Given the description of an element on the screen output the (x, y) to click on. 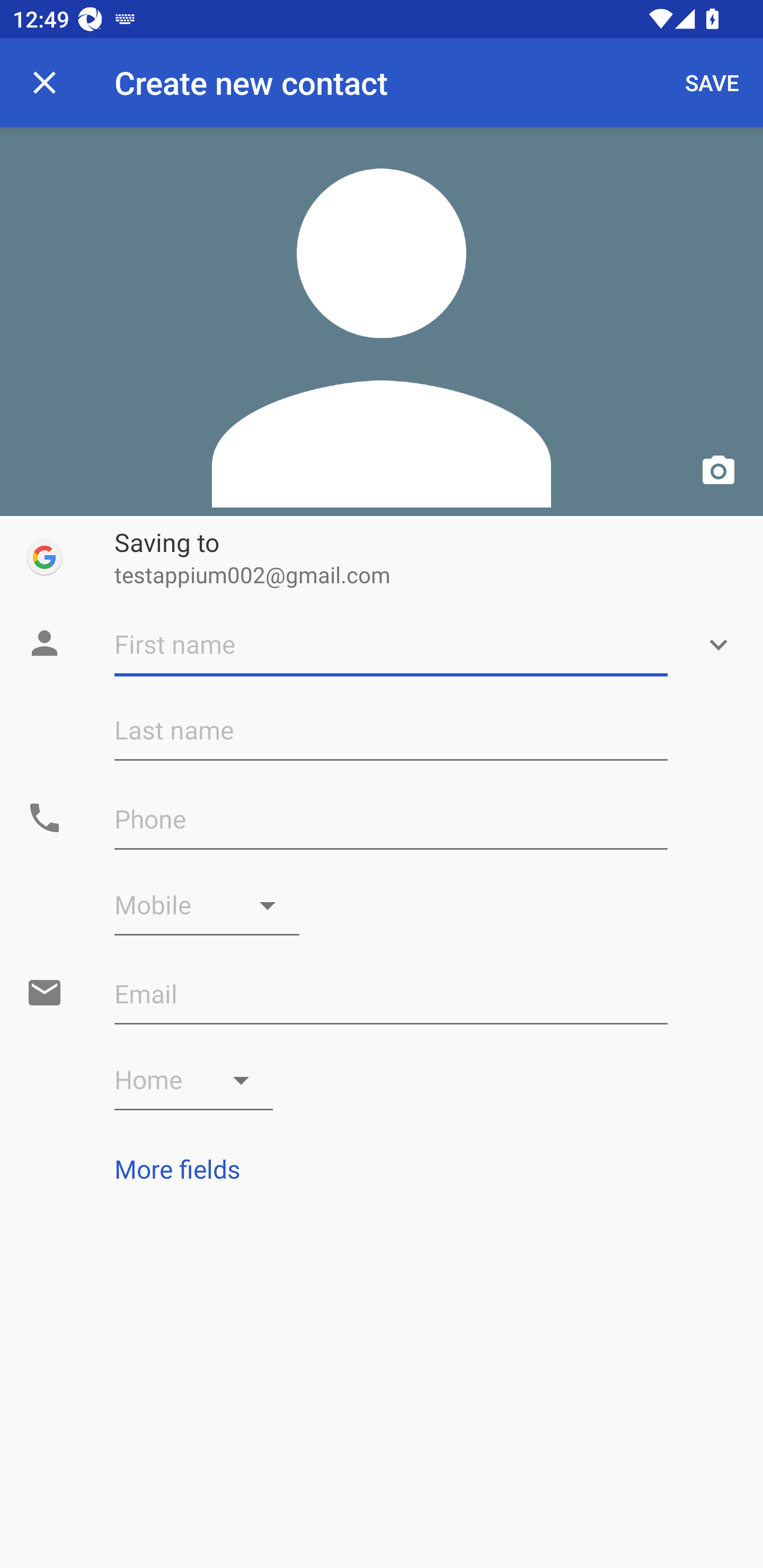
Cancel (44, 82)
SAVE (712, 82)
First name (390, 645)
Show more name fields (718, 645)
Last name (390, 730)
Phone (390, 819)
Phone Mobile (206, 905)
Email (390, 993)
Email Home (193, 1079)
More fields (381, 1168)
